Given the description of an element on the screen output the (x, y) to click on. 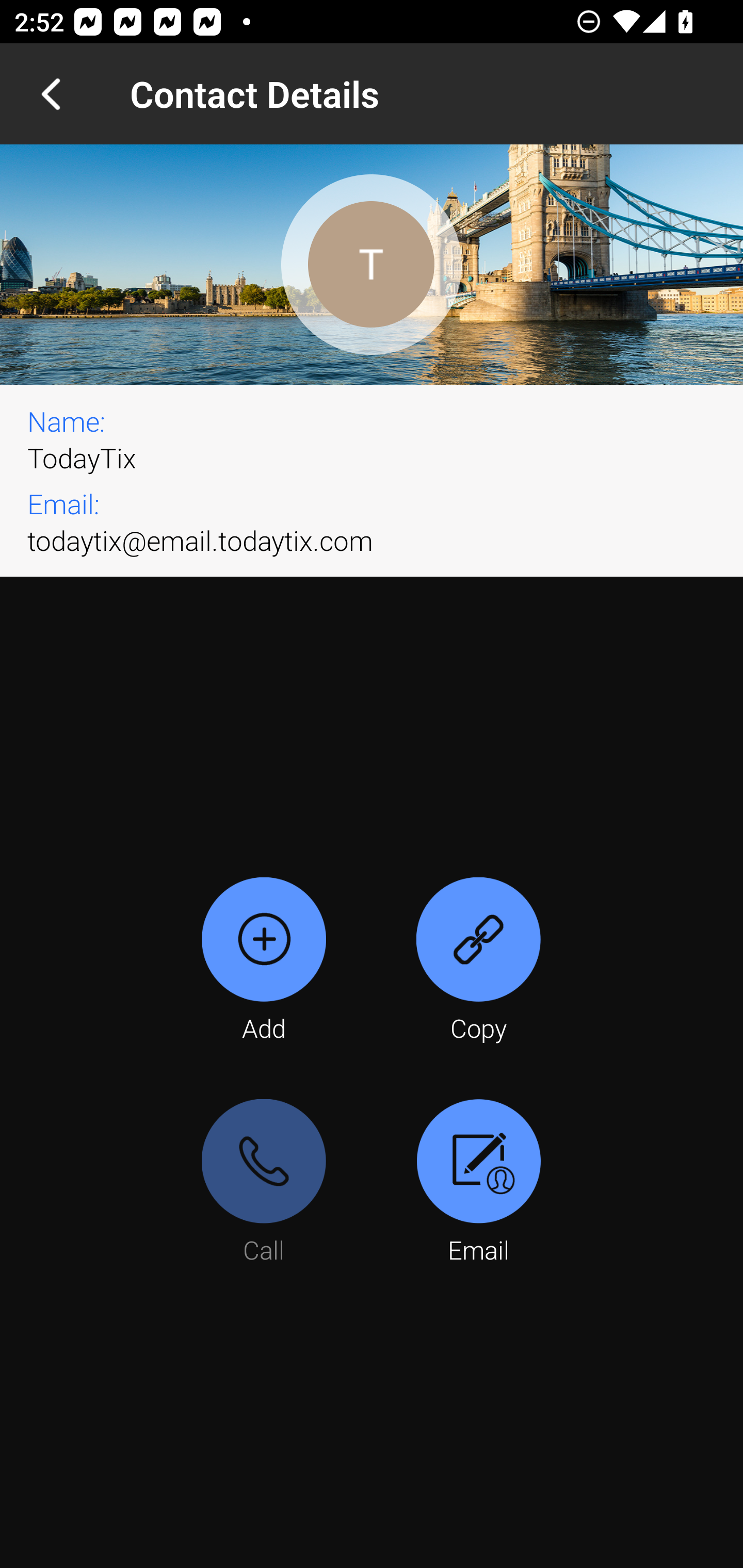
Navigate up (50, 93)
Add (264, 961)
Copy (478, 961)
Call (264, 1182)
Email (478, 1182)
